Given the description of an element on the screen output the (x, y) to click on. 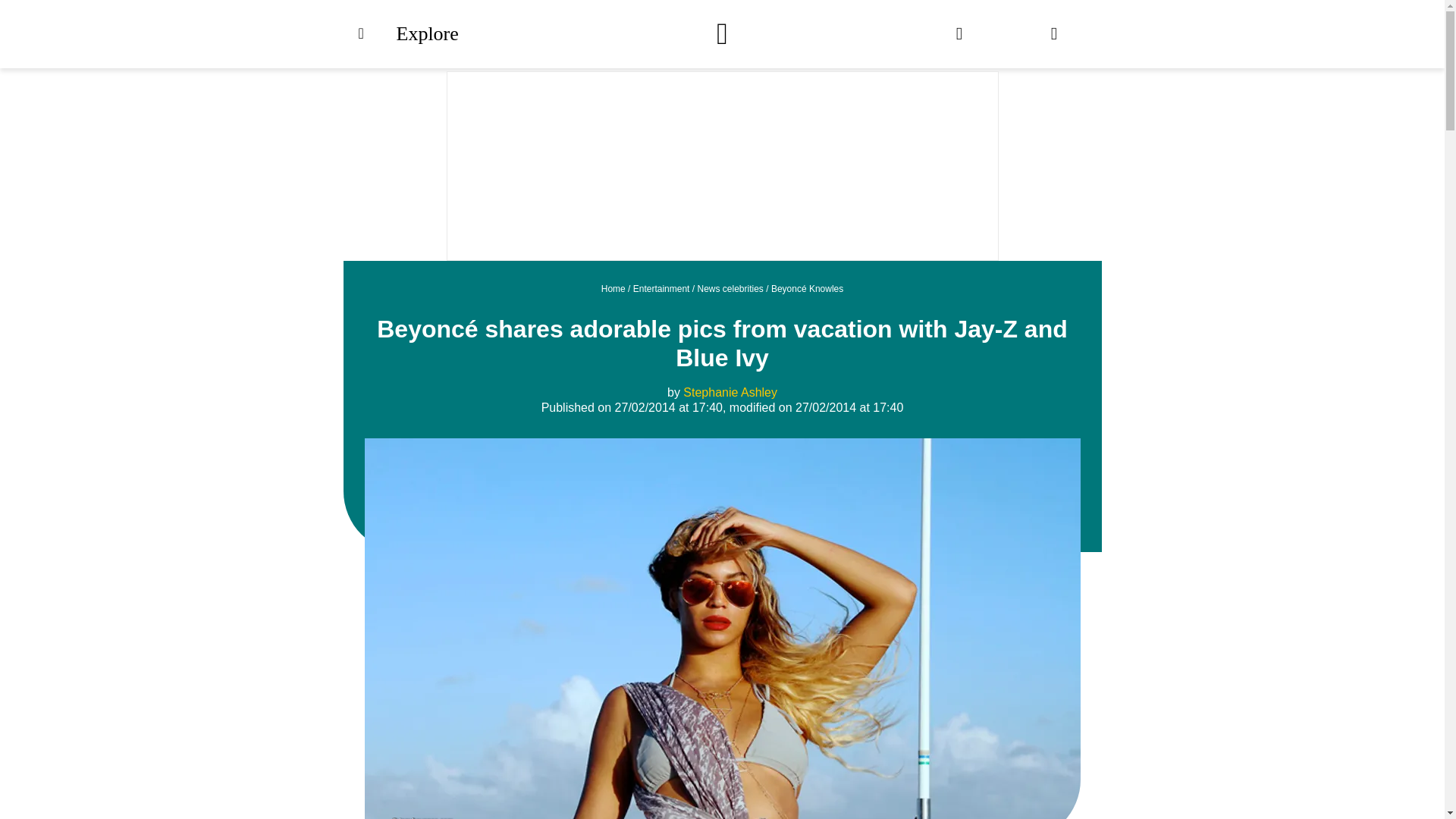
Home (613, 288)
Stephanie Ashley (729, 391)
Entertainment (661, 288)
News celebrities (729, 288)
